Given the description of an element on the screen output the (x, y) to click on. 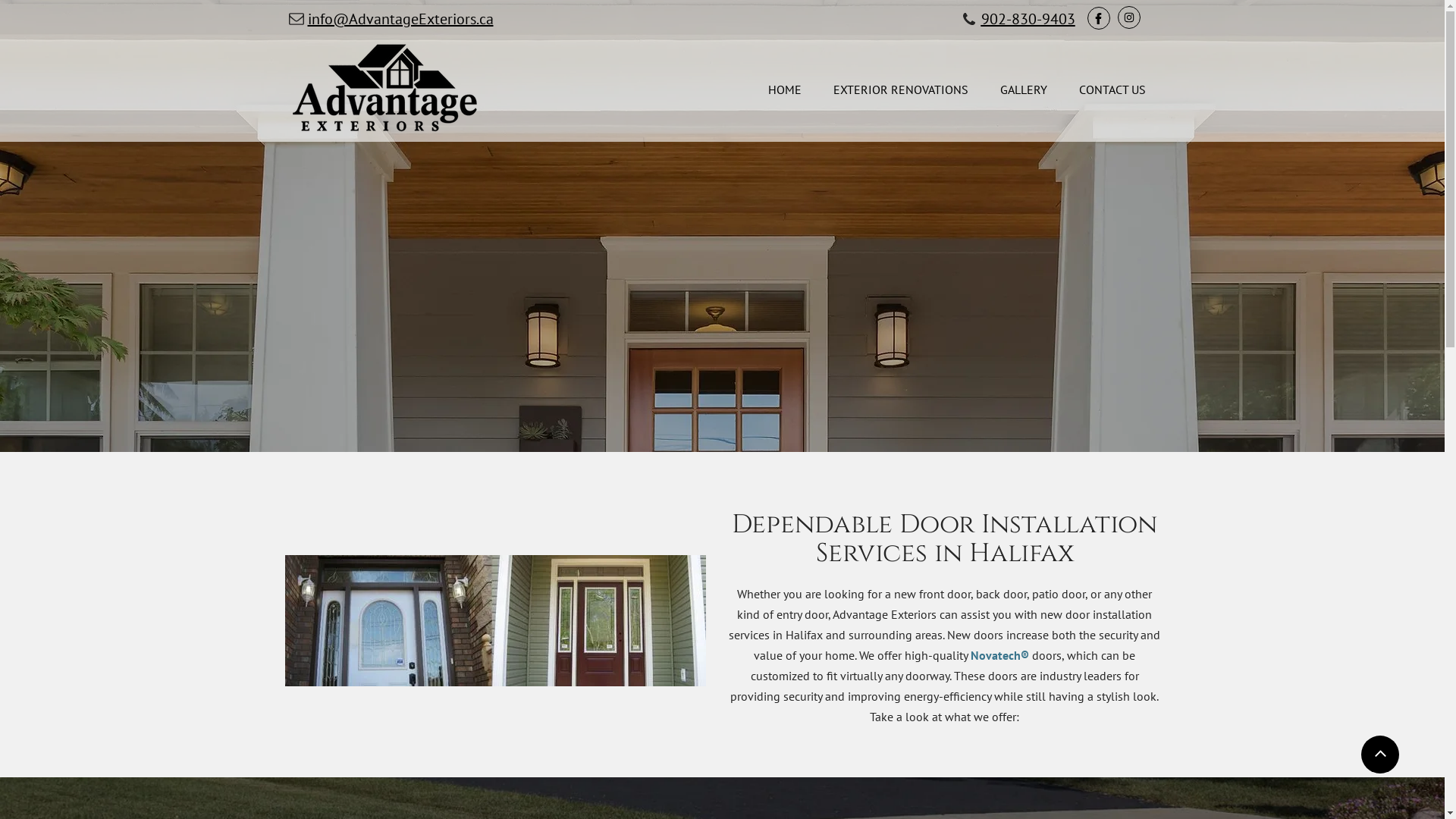
CONTACT US Element type: text (1110, 90)
HOME Element type: text (782, 90)
EXTERIOR RENOVATIONS Element type: text (898, 90)
902-830-9403 Element type: text (1028, 21)
GALLERY Element type: text (1021, 90)
info@AdvantageExteriors.ca Element type: text (400, 18)
